Given the description of an element on the screen output the (x, y) to click on. 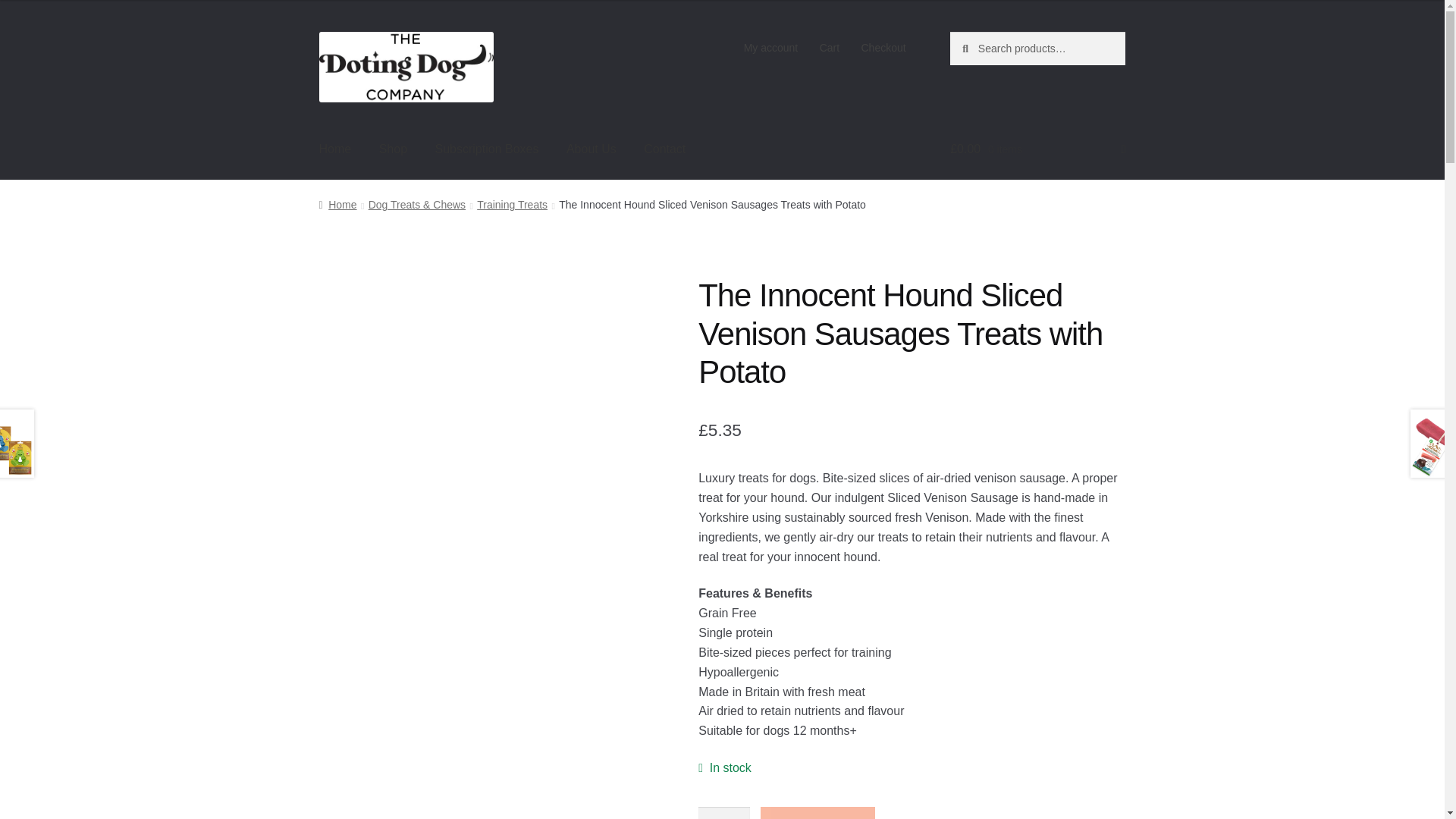
1 (723, 812)
Cart (828, 47)
My account (769, 47)
Home (337, 204)
Checkout (883, 47)
About Us (591, 149)
Training Treats (512, 204)
Subscription Boxes (486, 149)
Home (335, 149)
